Given the description of an element on the screen output the (x, y) to click on. 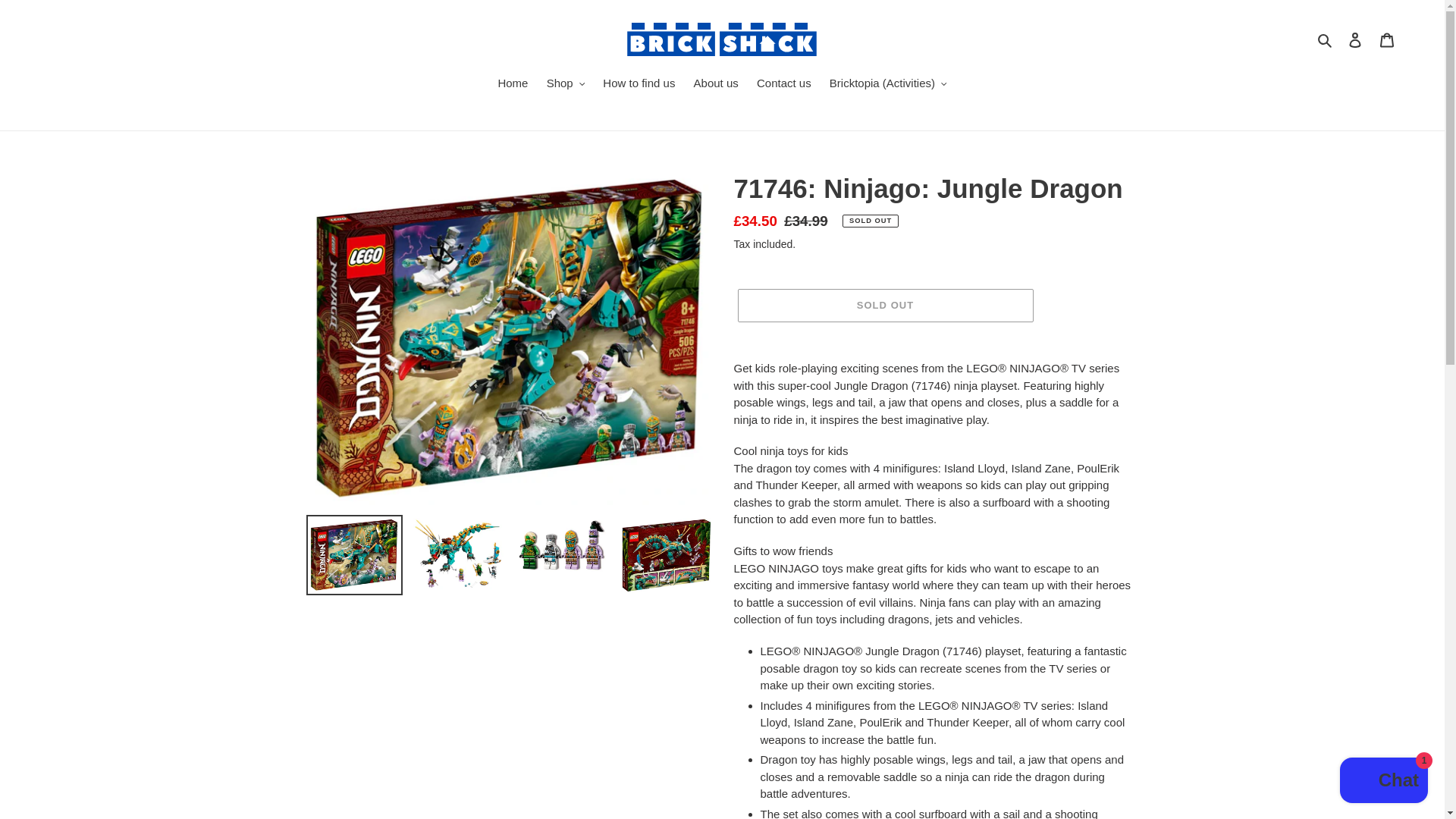
Search (1326, 39)
Cart (1387, 39)
Shopify online store chat (1383, 781)
Log in (1355, 39)
